Given the description of an element on the screen output the (x, y) to click on. 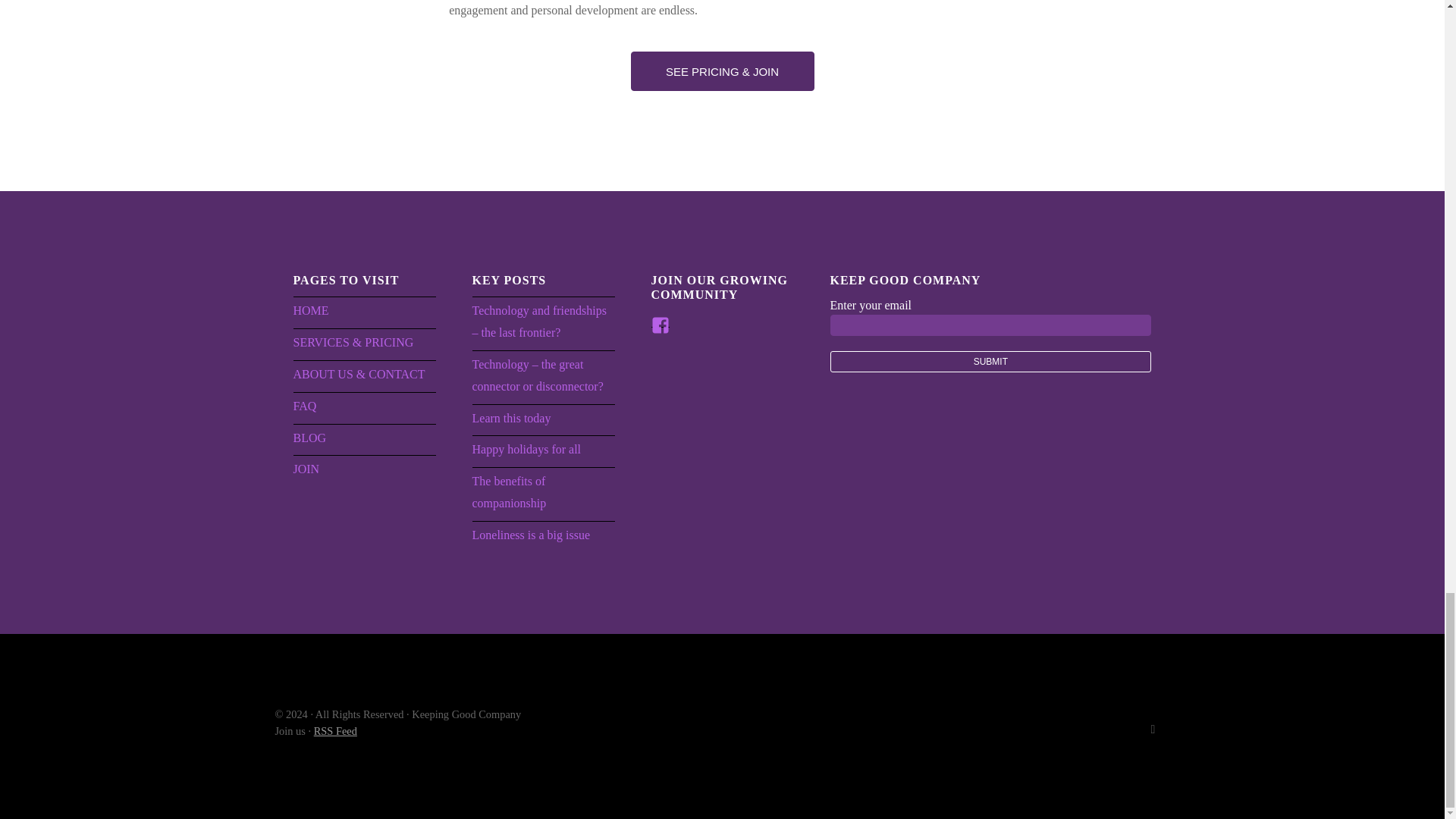
BLOG (363, 439)
Learn this today (542, 419)
RSS Feed (335, 730)
SUBMIT (990, 361)
JOIN (363, 470)
SUBMIT (990, 361)
Happy holidays for all (542, 450)
HOME (363, 312)
The benefits of companionship (542, 493)
Loneliness is a big issue (542, 536)
